Given the description of an element on the screen output the (x, y) to click on. 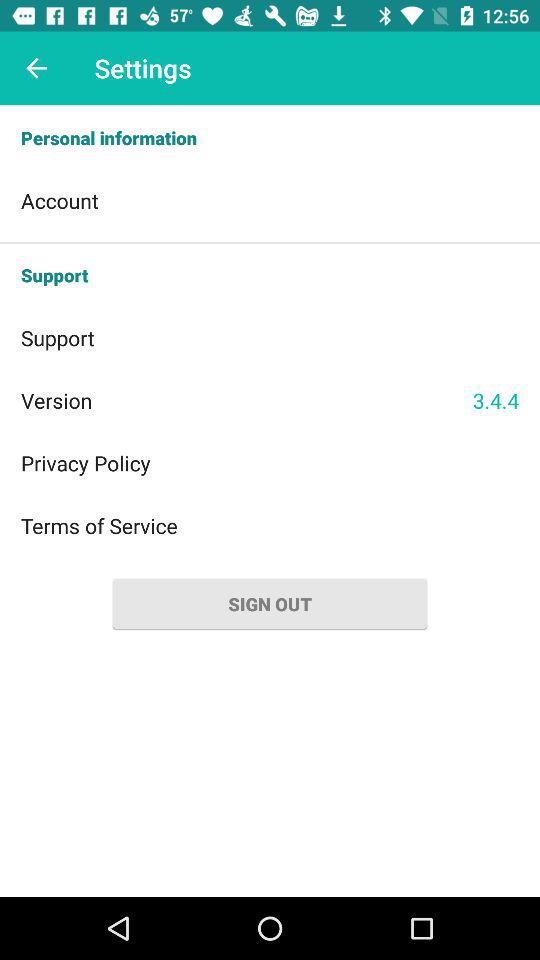
choose privacy policy icon (270, 462)
